Given the description of an element on the screen output the (x, y) to click on. 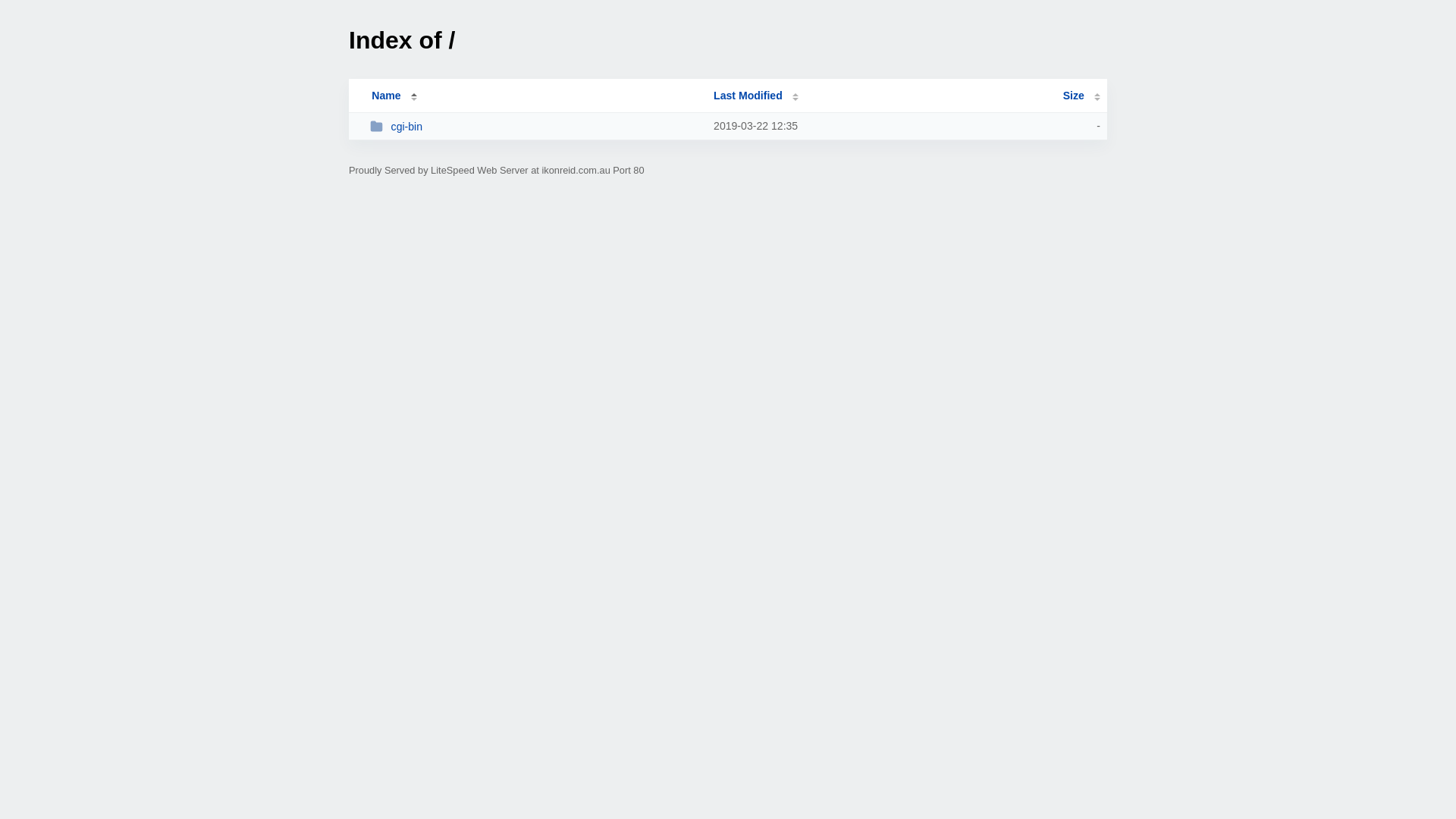
Size Element type: text (1081, 95)
cgi-bin Element type: text (534, 125)
Last Modified Element type: text (755, 95)
Name Element type: text (385, 95)
